Given the description of an element on the screen output the (x, y) to click on. 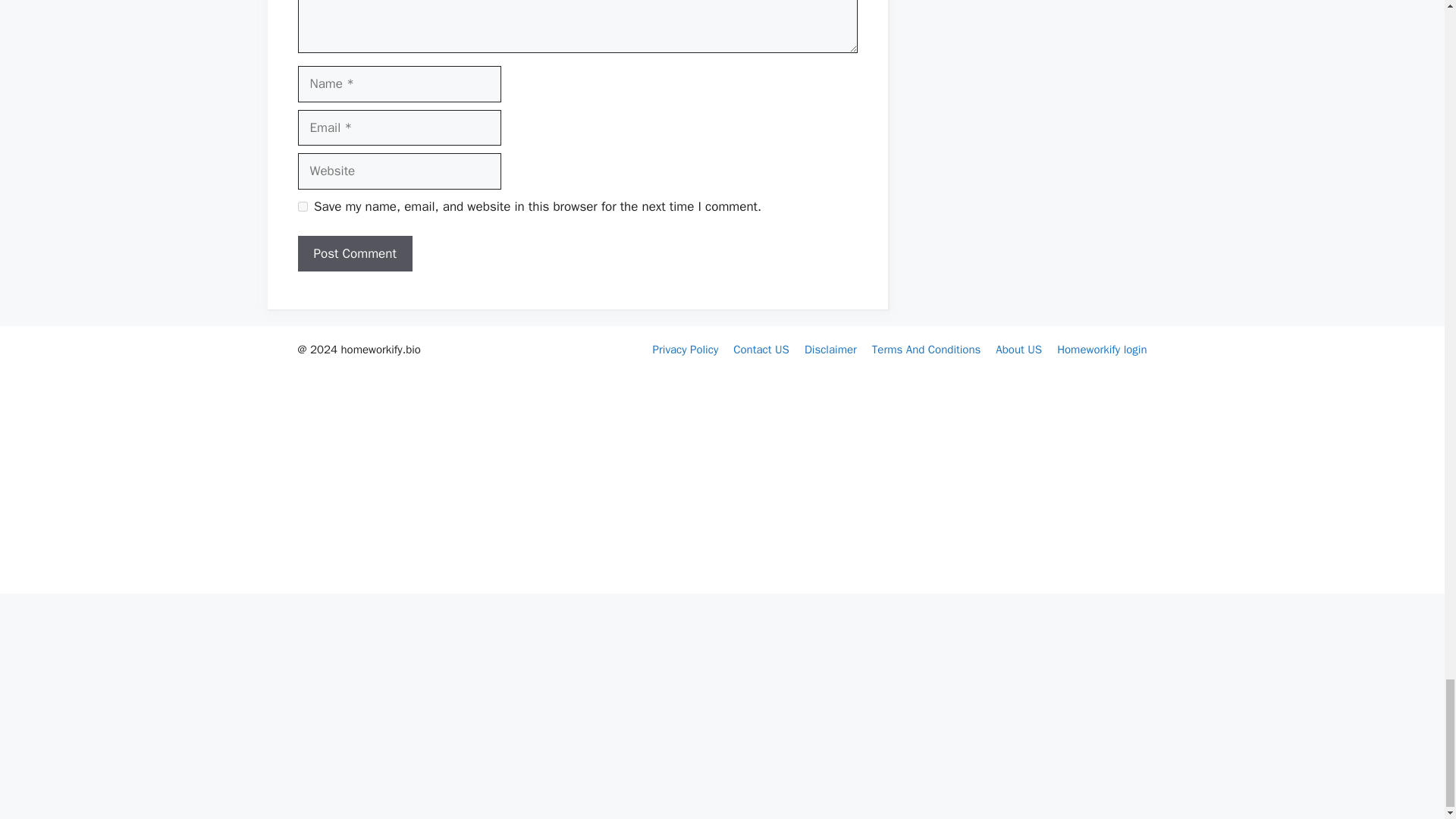
Contact US (761, 349)
Disclaimer (831, 349)
yes (302, 206)
Post Comment (354, 253)
Post Comment (354, 253)
Privacy Policy (685, 349)
